Given the description of an element on the screen output the (x, y) to click on. 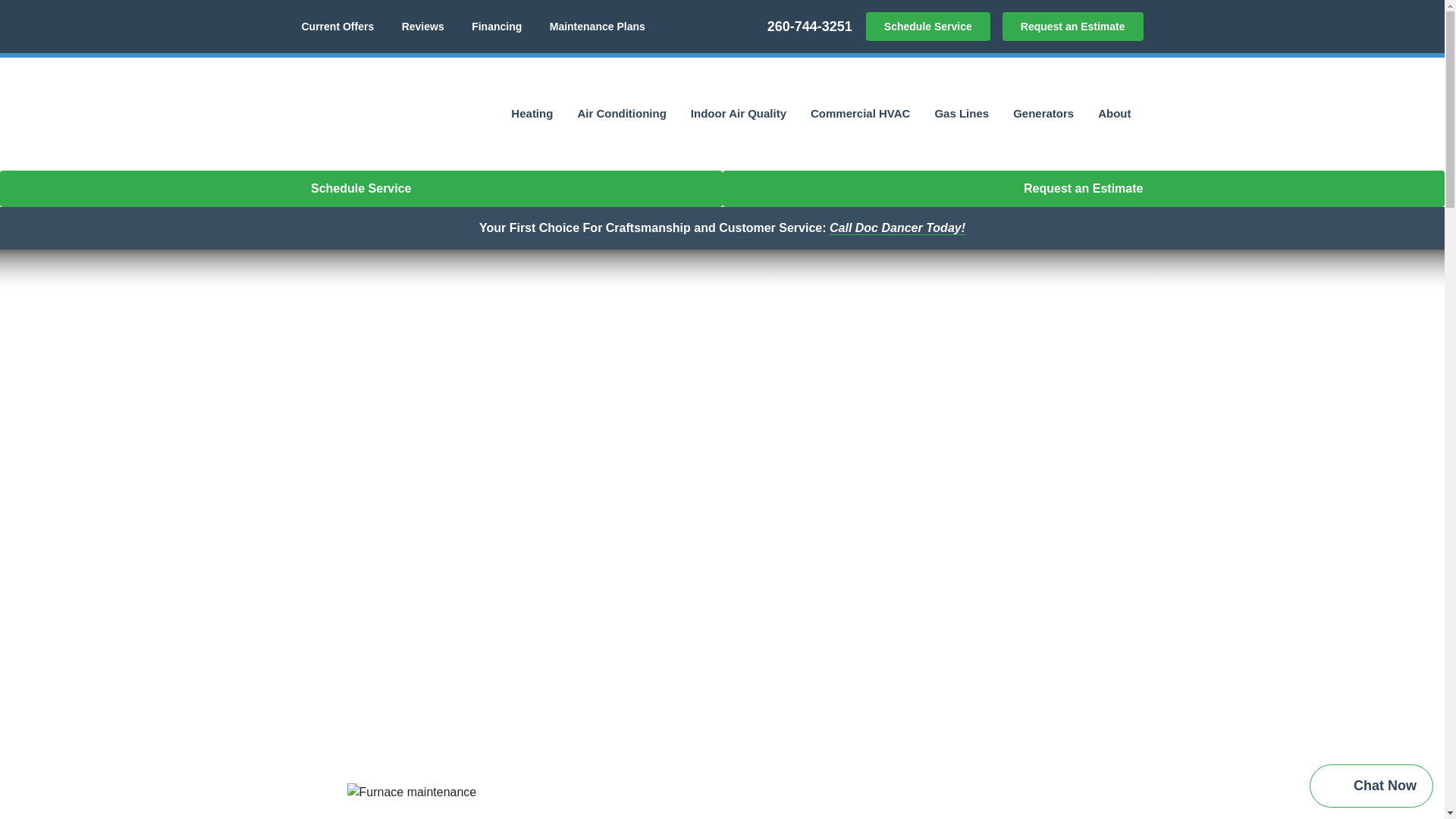
Maintenance Plans (597, 26)
Air Conditioning (620, 113)
Schedule Service (928, 26)
Request an Estimate (1072, 26)
Reviews (422, 26)
Current Offers (337, 26)
Financing (496, 26)
Current Offers (337, 26)
Reviews (422, 26)
260-744-3251 (810, 26)
Heating (532, 113)
Financing (496, 26)
Request an Estimate (1072, 26)
Schedule Service (928, 26)
Maintenance Plans (597, 26)
